Given the description of an element on the screen output the (x, y) to click on. 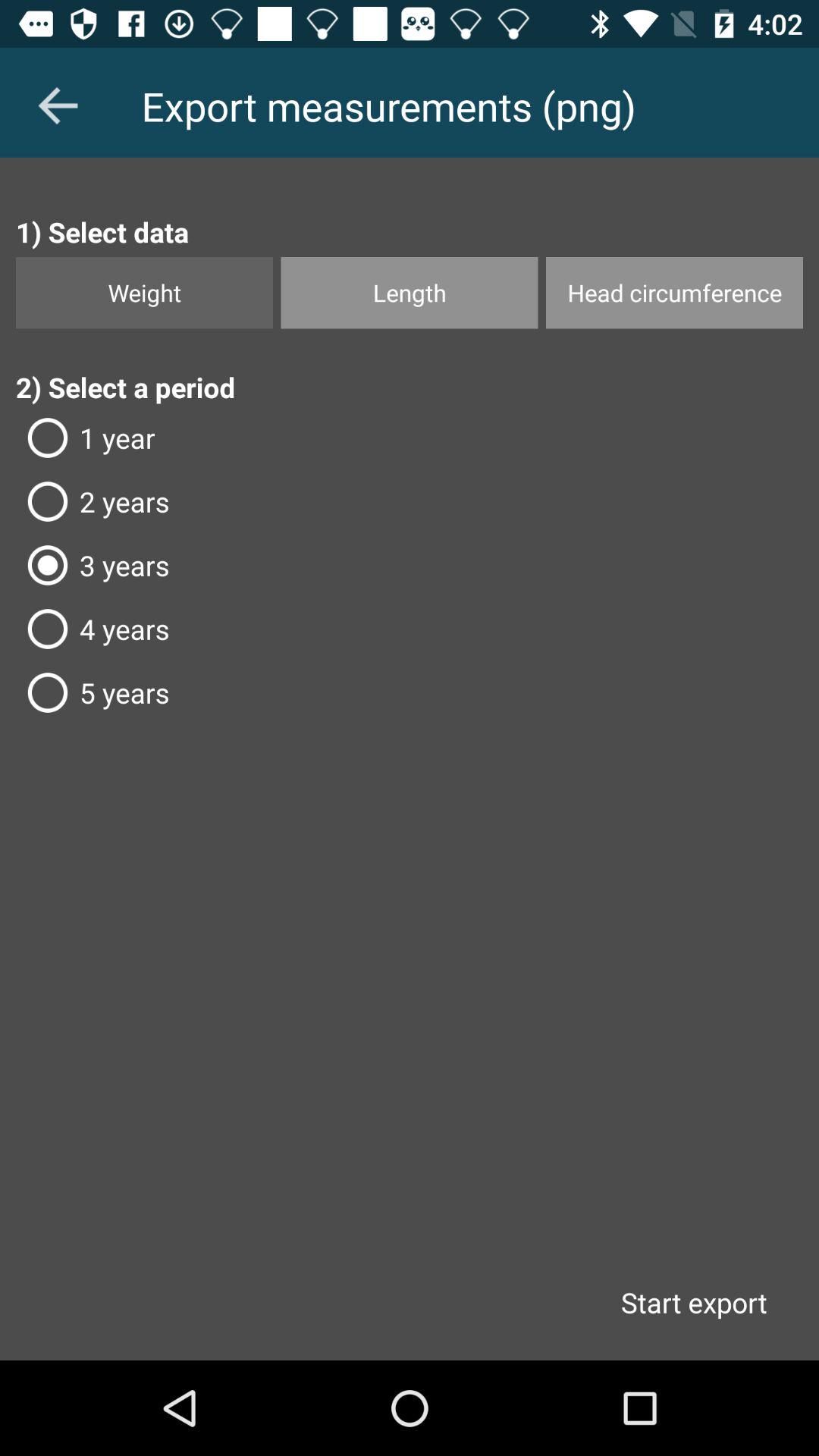
go back (57, 105)
